Given the description of an element on the screen output the (x, y) to click on. 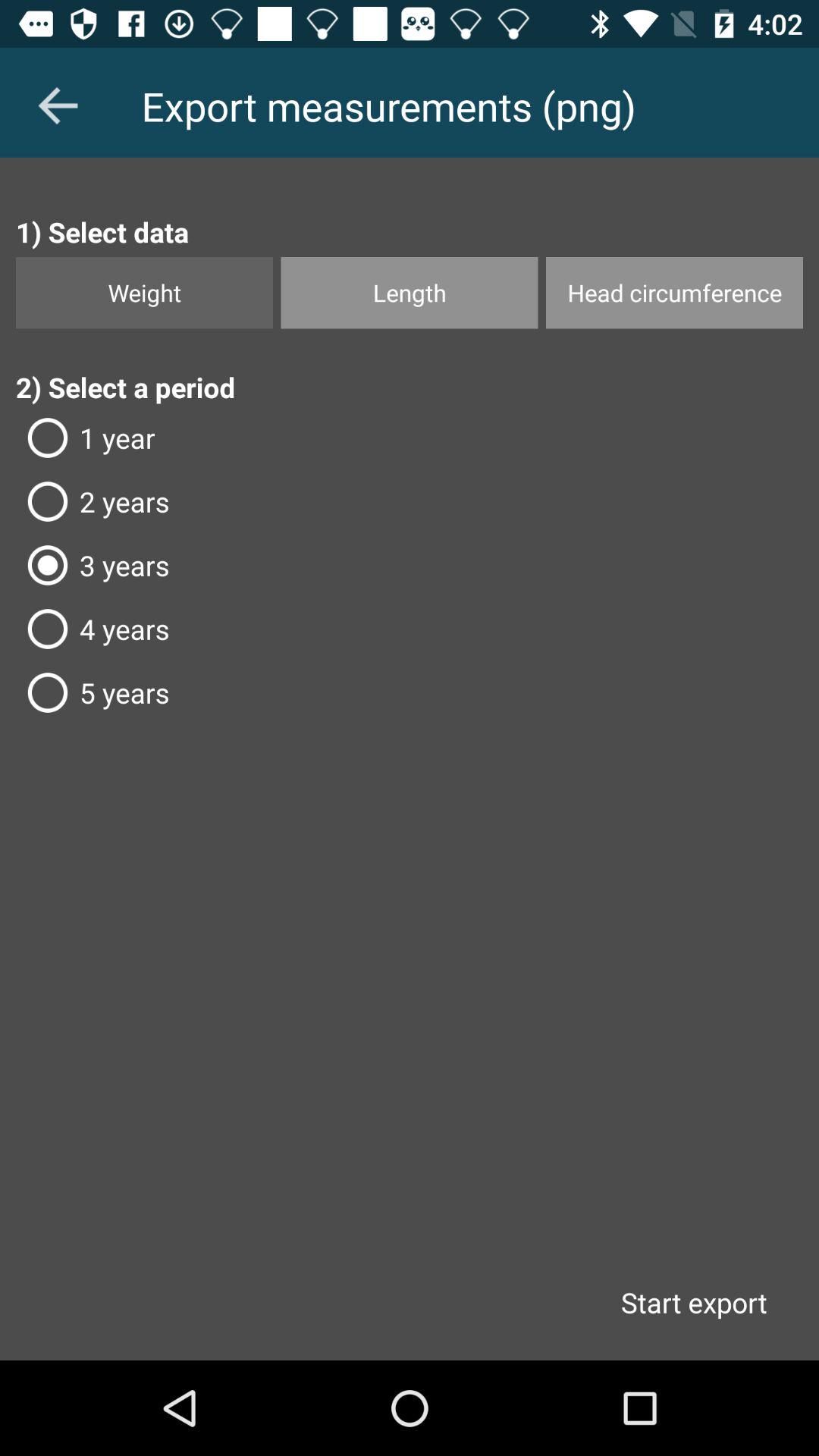
go back (57, 105)
